Given the description of an element on the screen output the (x, y) to click on. 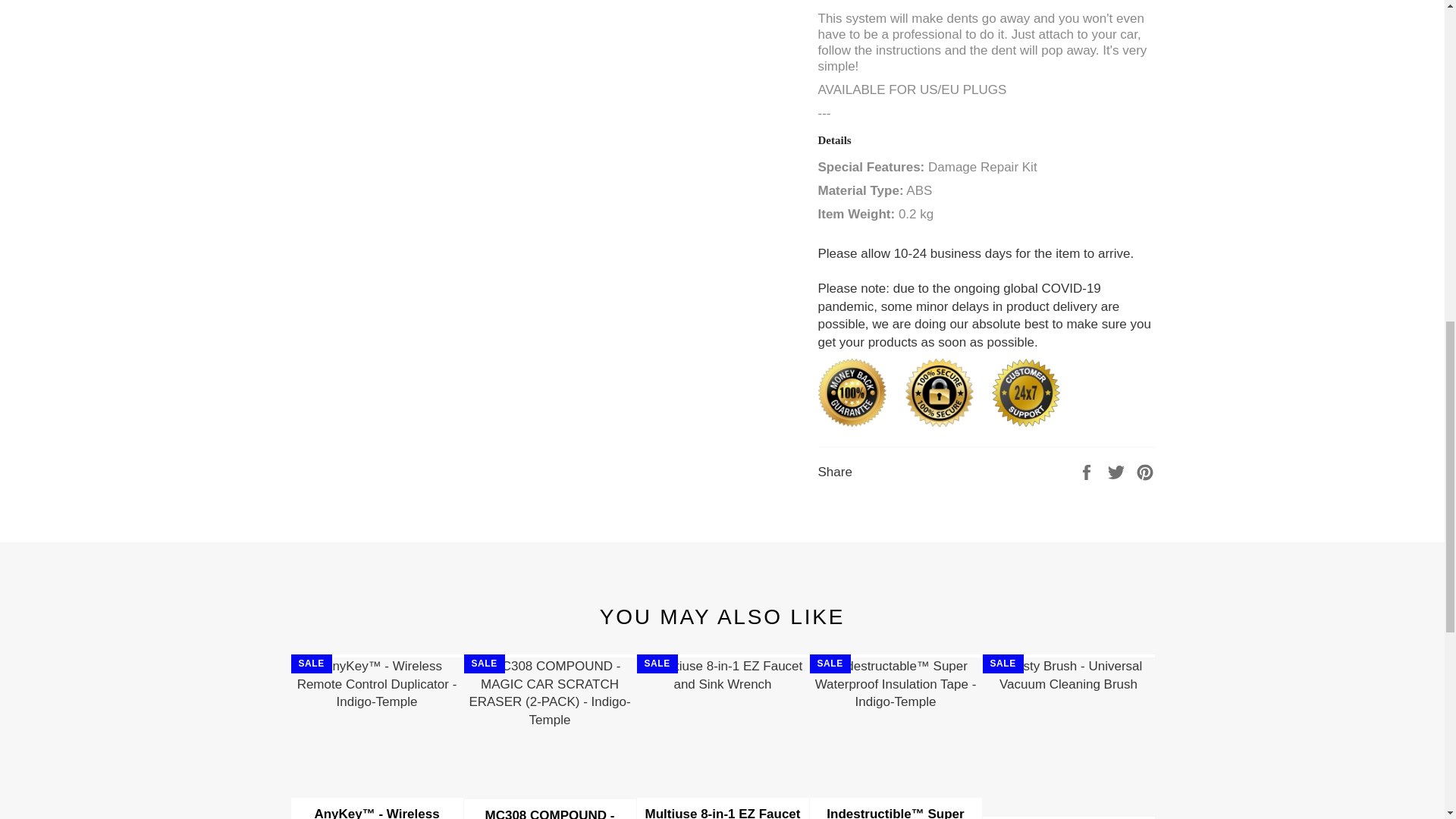
Pin on Pinterest (1144, 471)
Share on Facebook (1088, 471)
Tweet on Twitter (1117, 471)
